Given the description of an element on the screen output the (x, y) to click on. 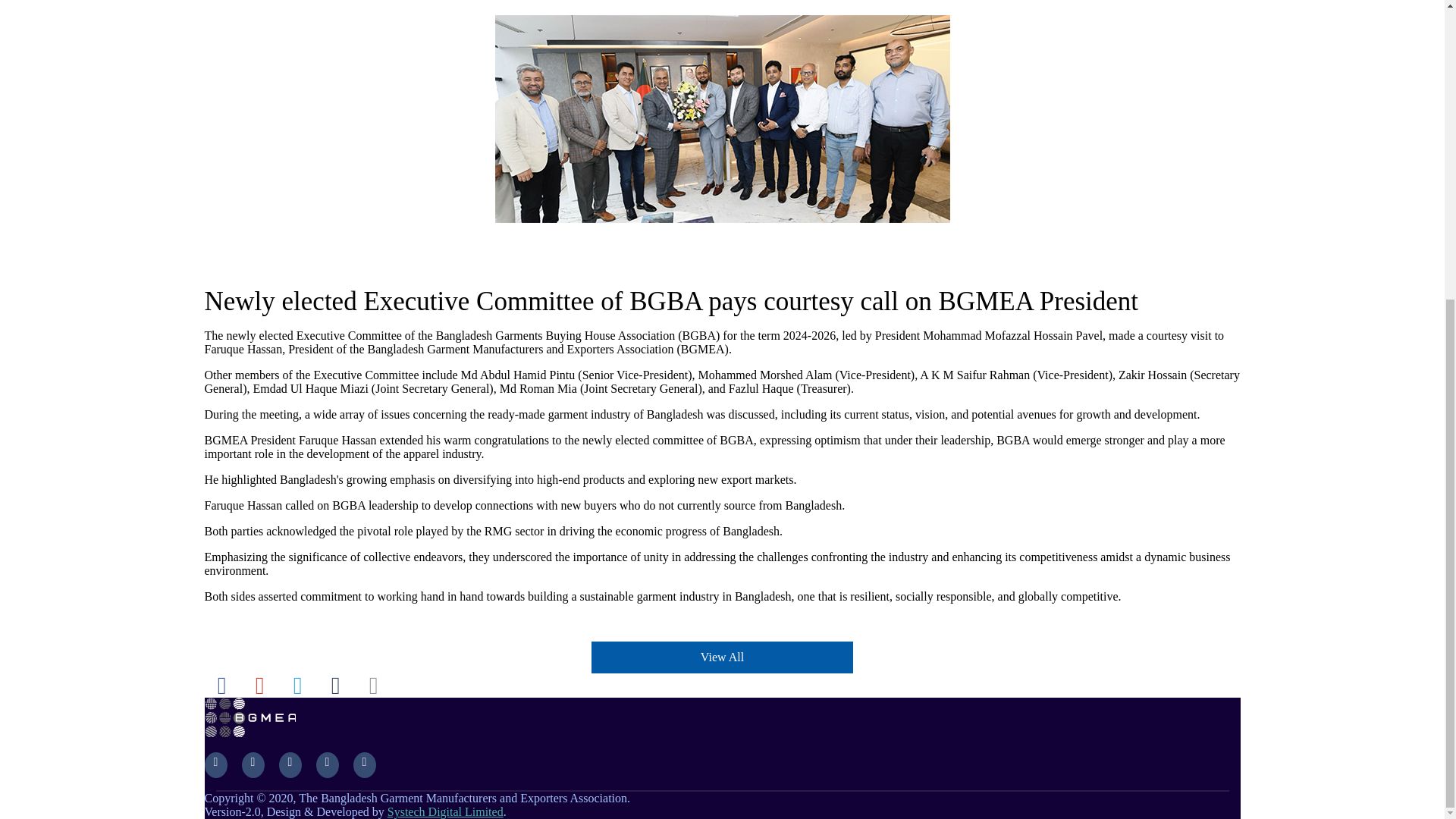
Share to Twitter (297, 685)
Share to E-mail (373, 685)
Share to Tumblr (335, 685)
Share to Fb (220, 685)
